Given the description of an element on the screen output the (x, y) to click on. 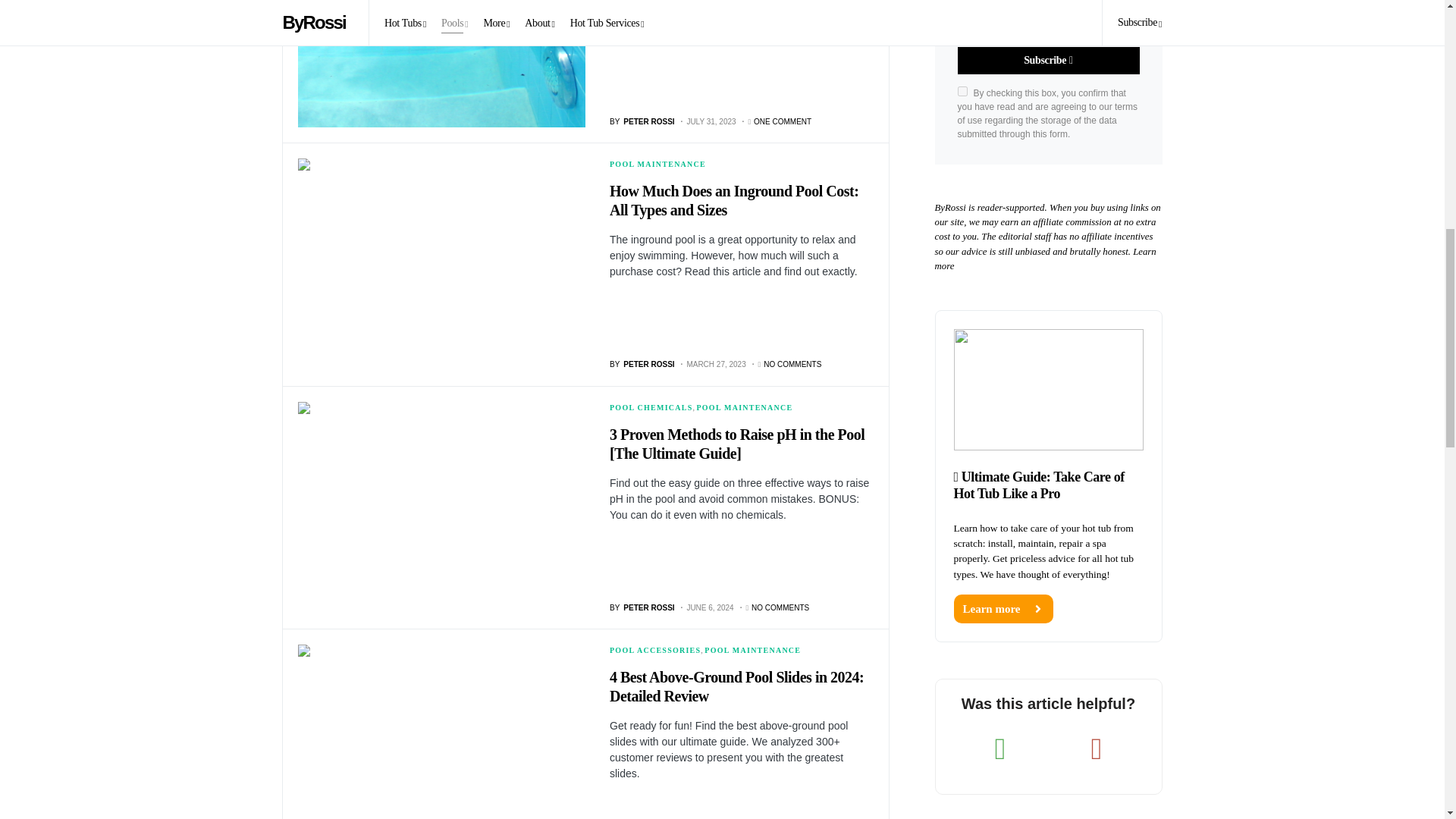
View all posts by Peter Rossi (642, 364)
View all posts by Peter Rossi (642, 121)
View all posts by Peter Rossi (642, 607)
